Given the description of an element on the screen output the (x, y) to click on. 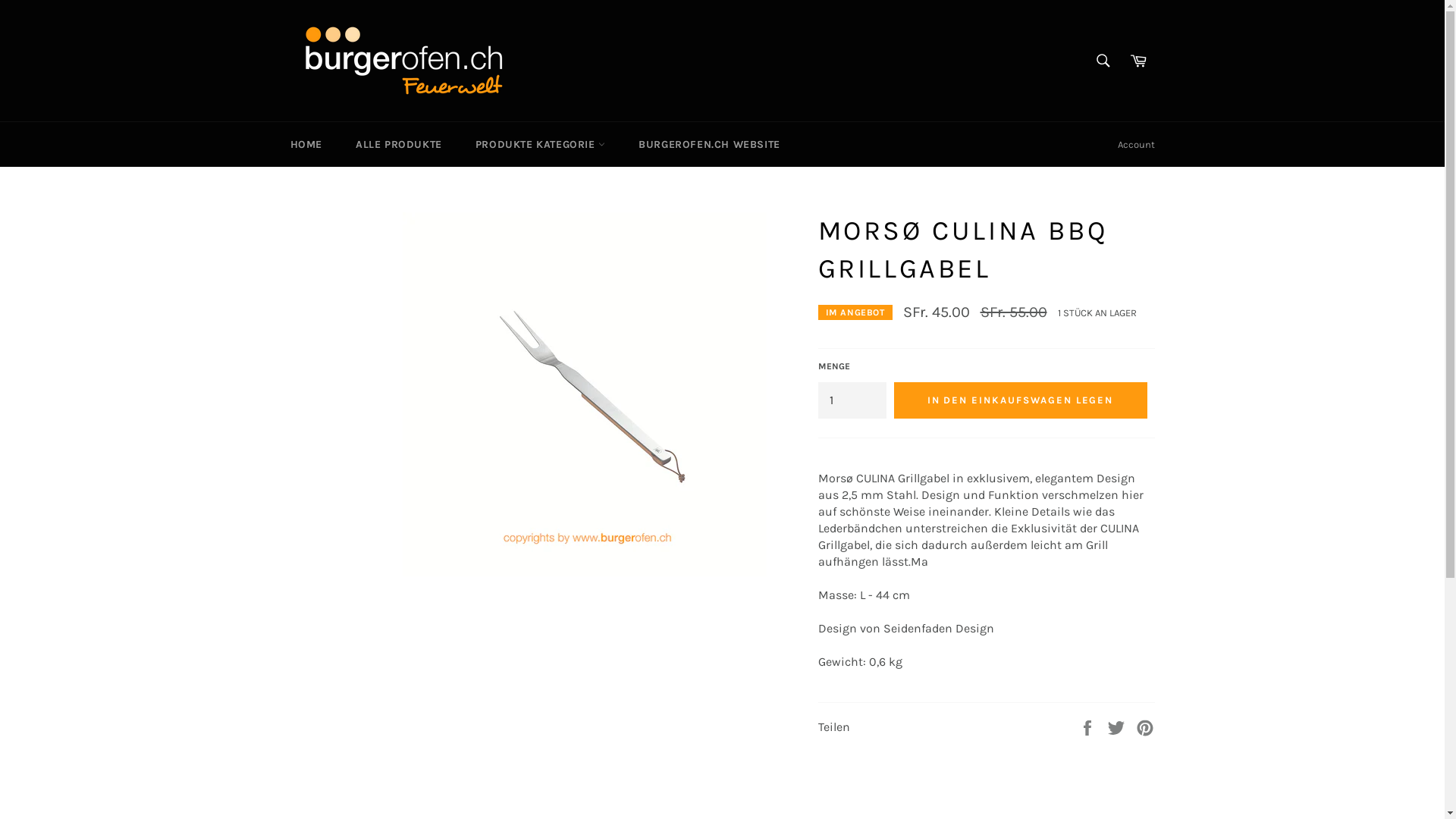
ALLE PRODUKTE Element type: text (398, 144)
IN DEN EINKAUFSWAGEN LEGEN Element type: text (1019, 400)
HOME Element type: text (305, 144)
Suchen Element type: text (1103, 60)
Auf Pinterest pinnen Element type: text (1144, 725)
Auf Twitter twittern Element type: text (1117, 725)
Auf Facebook teilen Element type: text (1088, 725)
BURGEROFEN.CH WEBSITE Element type: text (709, 144)
PRODUKTE KATEGORIE Element type: text (540, 144)
Einkaufswagen Element type: text (1138, 60)
Account Element type: text (1136, 144)
